Given the description of an element on the screen output the (x, y) to click on. 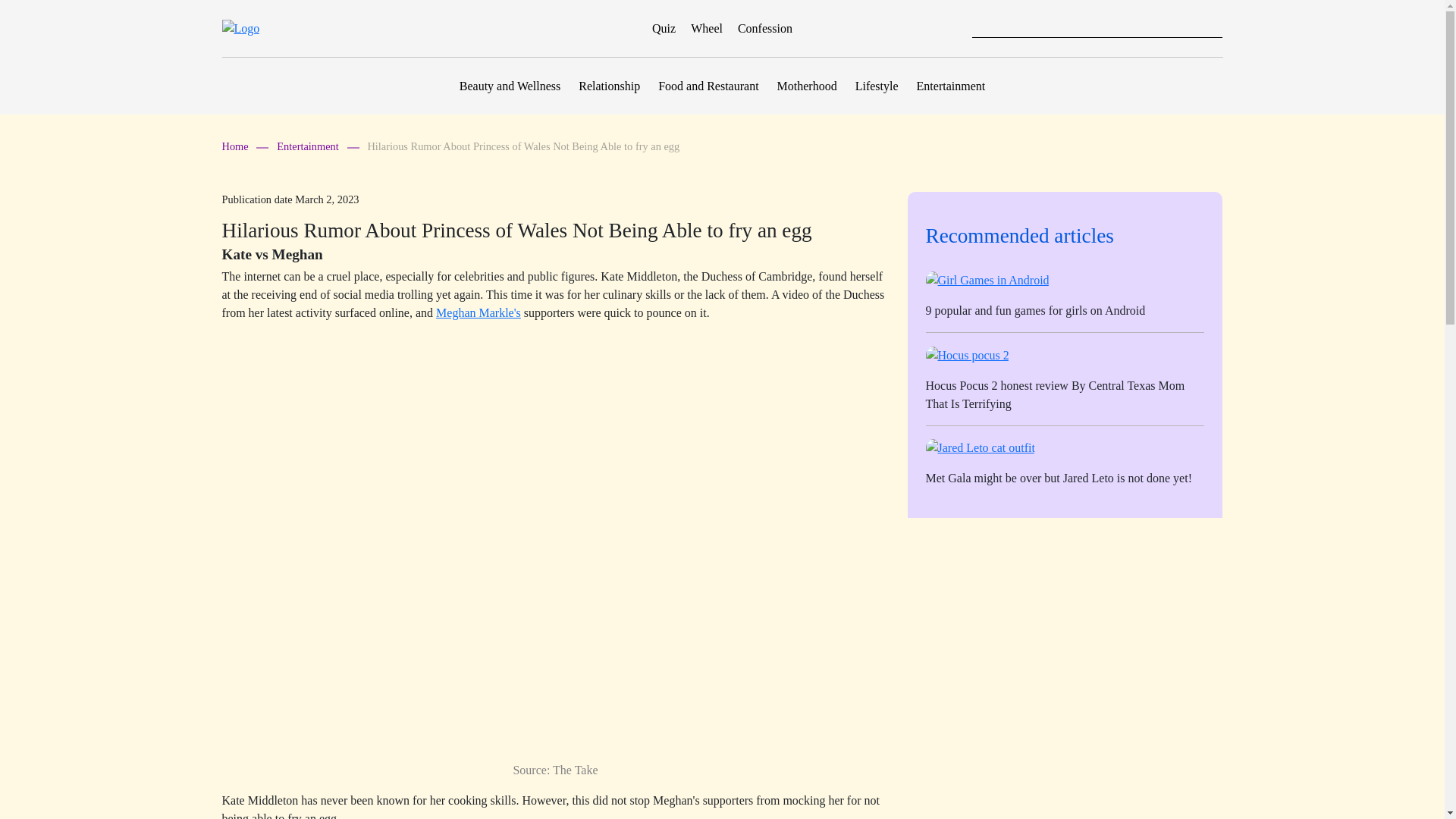
Beauty and Wellness (510, 85)
Food and Restaurant (708, 85)
Entertainment   (317, 146)
Motherhood (807, 85)
Entertainment (951, 85)
Quiz (665, 28)
9 popular and fun games for girls on Android (1034, 309)
Home   (244, 146)
Confession (765, 28)
